Given the description of an element on the screen output the (x, y) to click on. 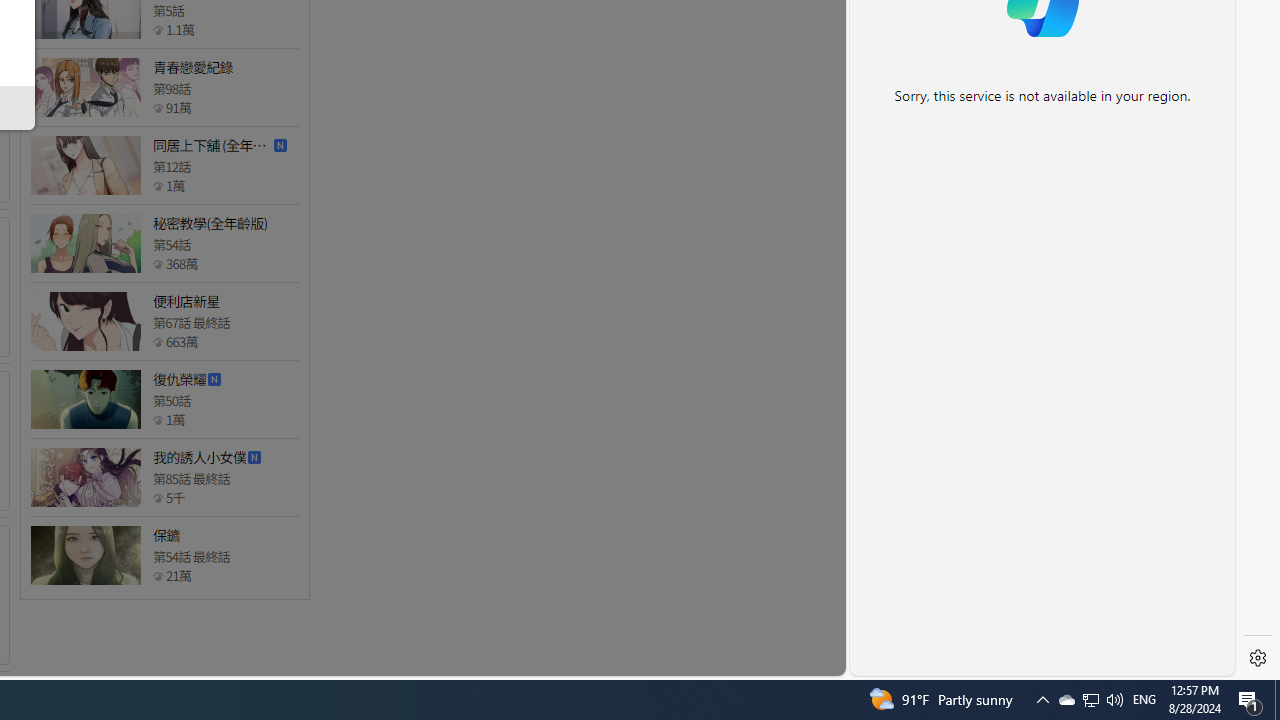
Class: thumb_img (85, 555)
